Given the description of an element on the screen output the (x, y) to click on. 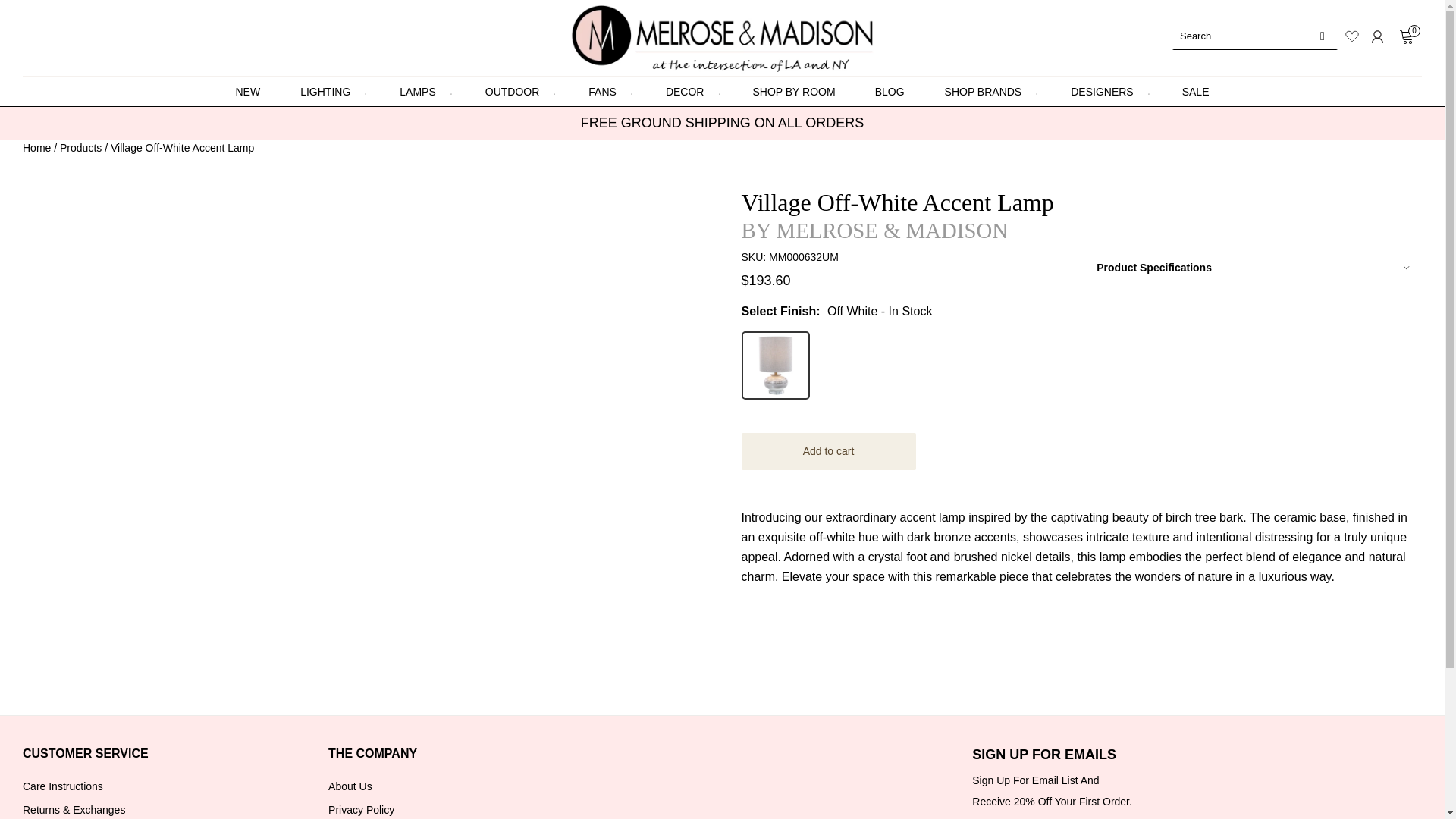
Add to cart (828, 451)
SHOP BY ROOM (793, 91)
NEW (247, 91)
